Given the description of an element on the screen output the (x, y) to click on. 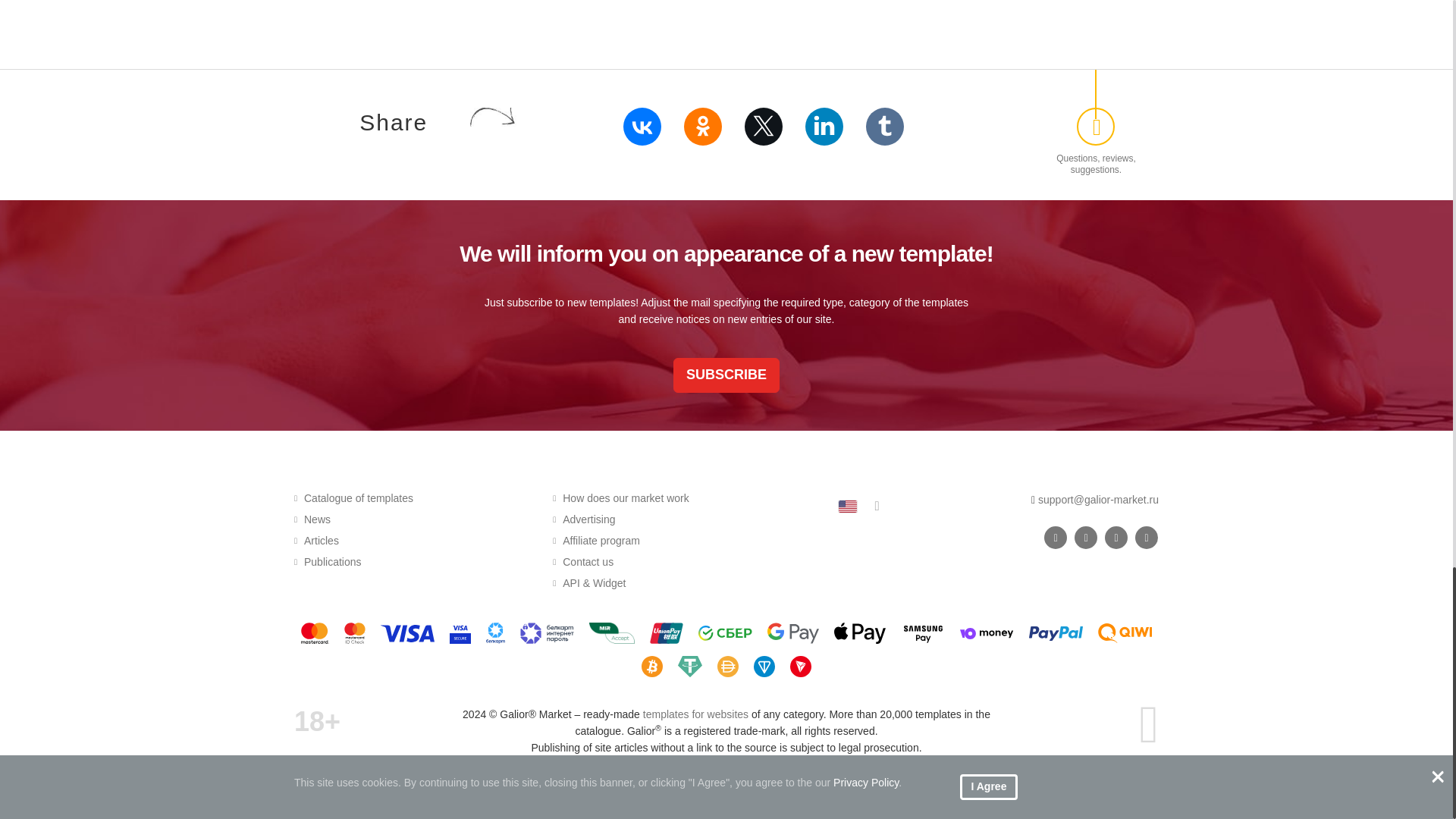
Our VK group (1055, 537)
LinkedIn (824, 126)
Our LinkedIn group (1146, 537)
Facebook group (1085, 537)
Twitter (763, 126)
Tumblr (885, 126)
Twit (1115, 537)
